Given the description of an element on the screen output the (x, y) to click on. 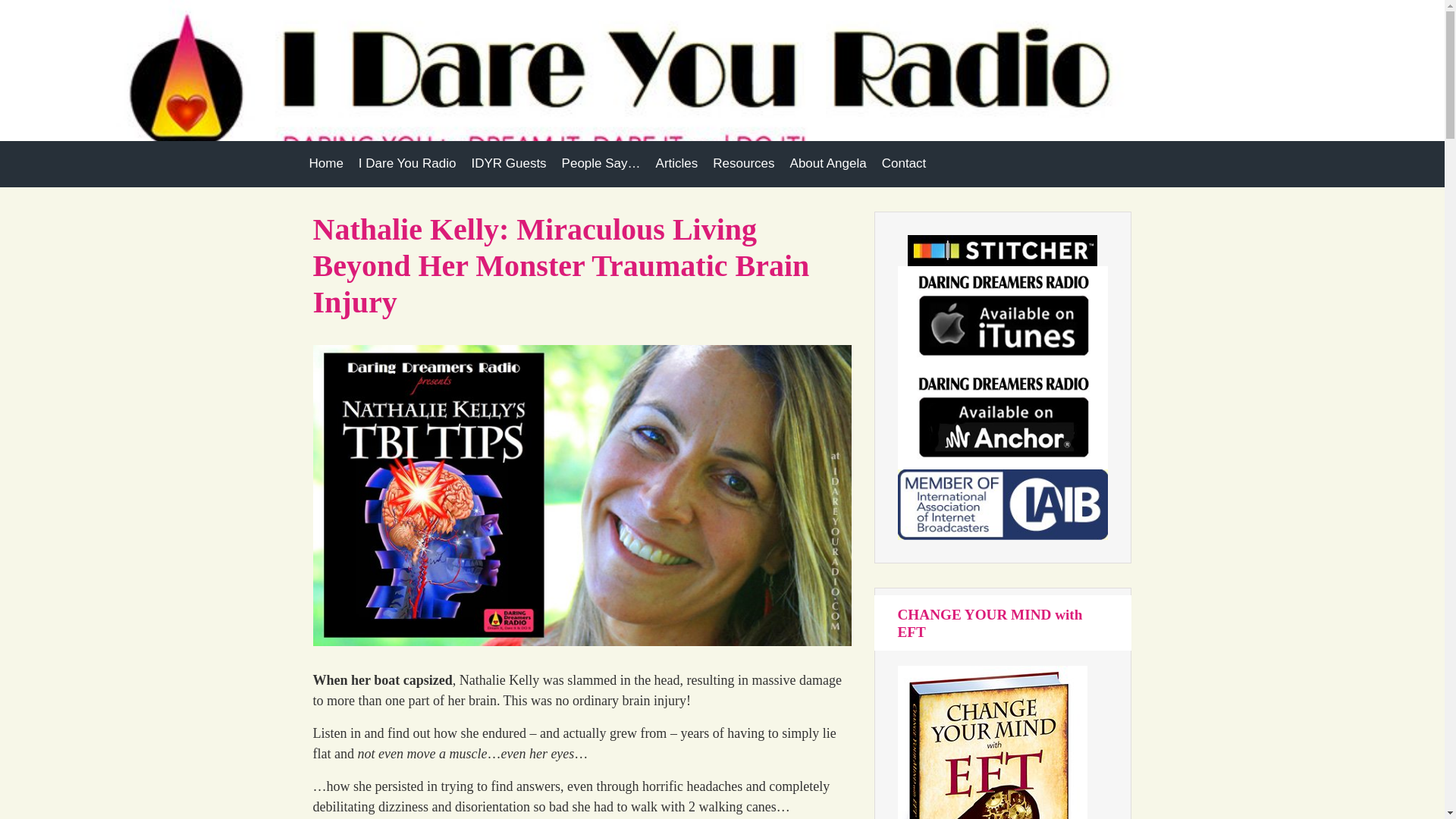
IDYR Guests (507, 163)
Home (325, 163)
RSS Feed (1061, 89)
Facebook (1089, 89)
I Dare You Radio (407, 163)
Articles (676, 163)
Skip to main content (16, 7)
Twitter (1116, 89)
Resources (743, 163)
Contact (904, 163)
